Given the description of an element on the screen output the (x, y) to click on. 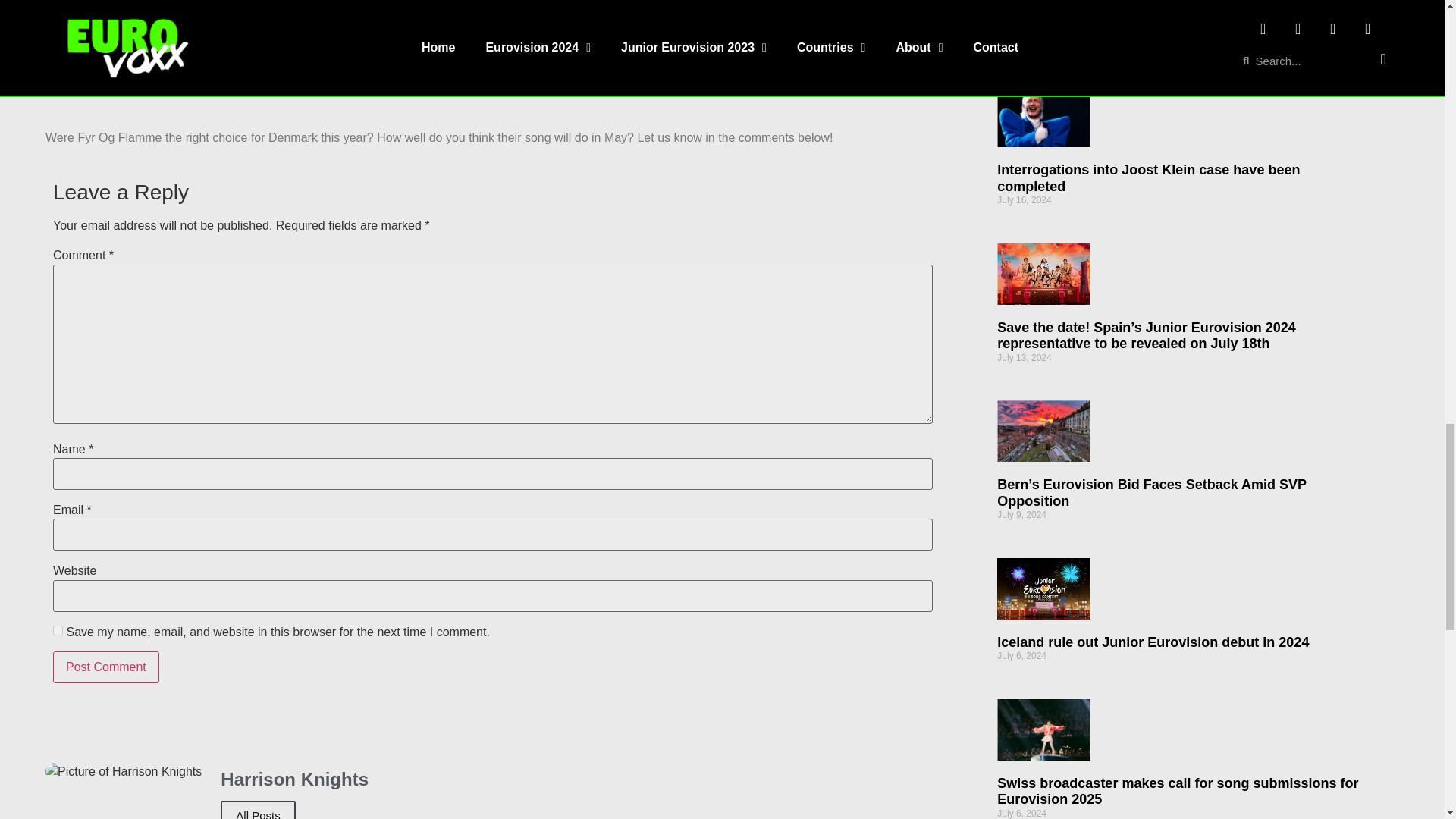
yes (57, 630)
Post Comment (105, 667)
